Given the description of an element on the screen output the (x, y) to click on. 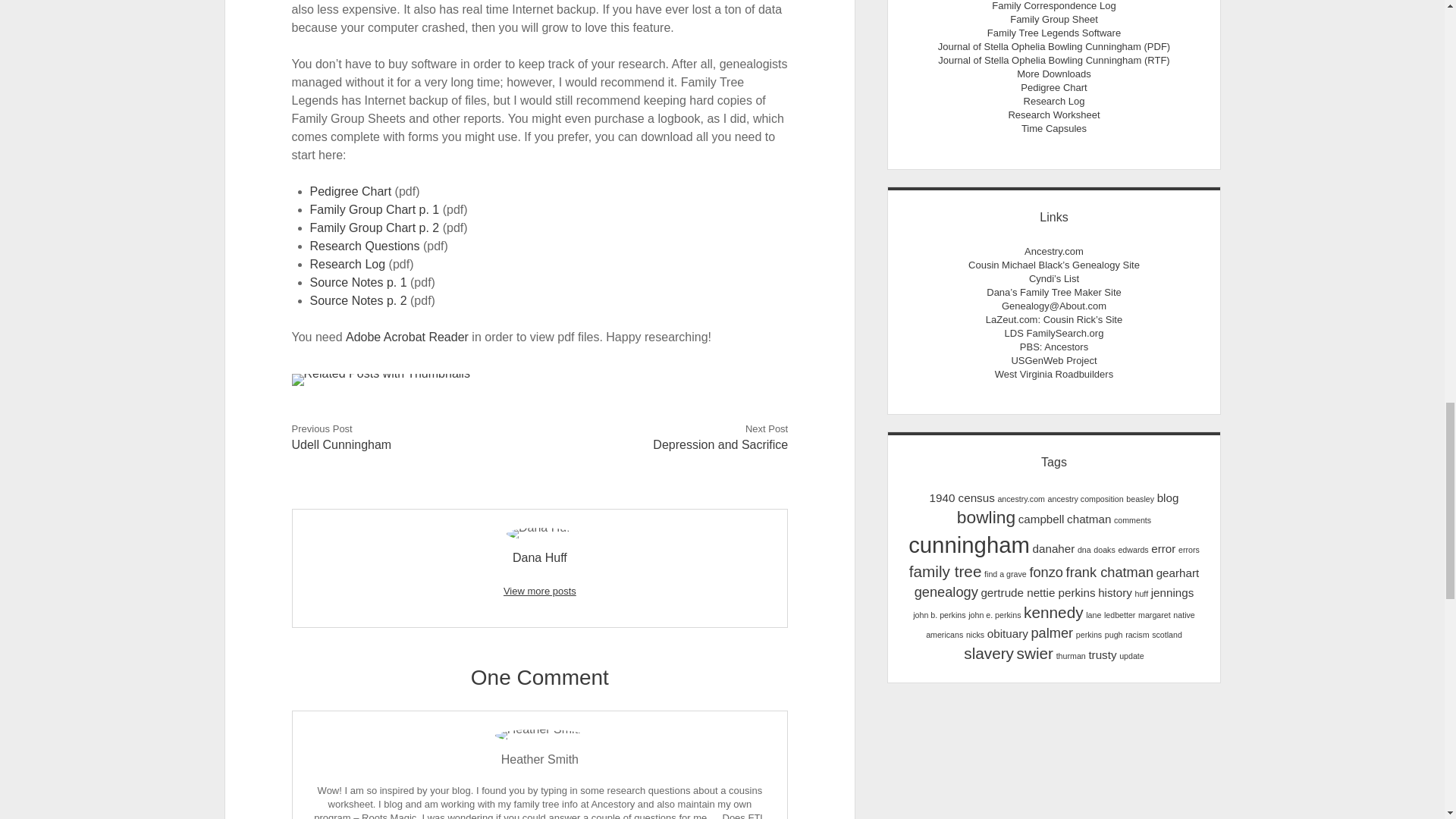
Research Log (347, 264)
Source Notes p. 1 (358, 282)
Research Questions (365, 245)
Adobe Acrobat Reader (407, 336)
PDF (1053, 87)
Family Group Chart p. 2 (374, 227)
Source Notes p. 2 (358, 300)
PDF (1053, 19)
PDF (1053, 101)
Depression and Sacrifice (719, 444)
Pedigree Chart (350, 191)
View more posts (539, 591)
Udell Cunningham (341, 444)
Family Group Chart p. 1 (374, 209)
